Given the description of an element on the screen output the (x, y) to click on. 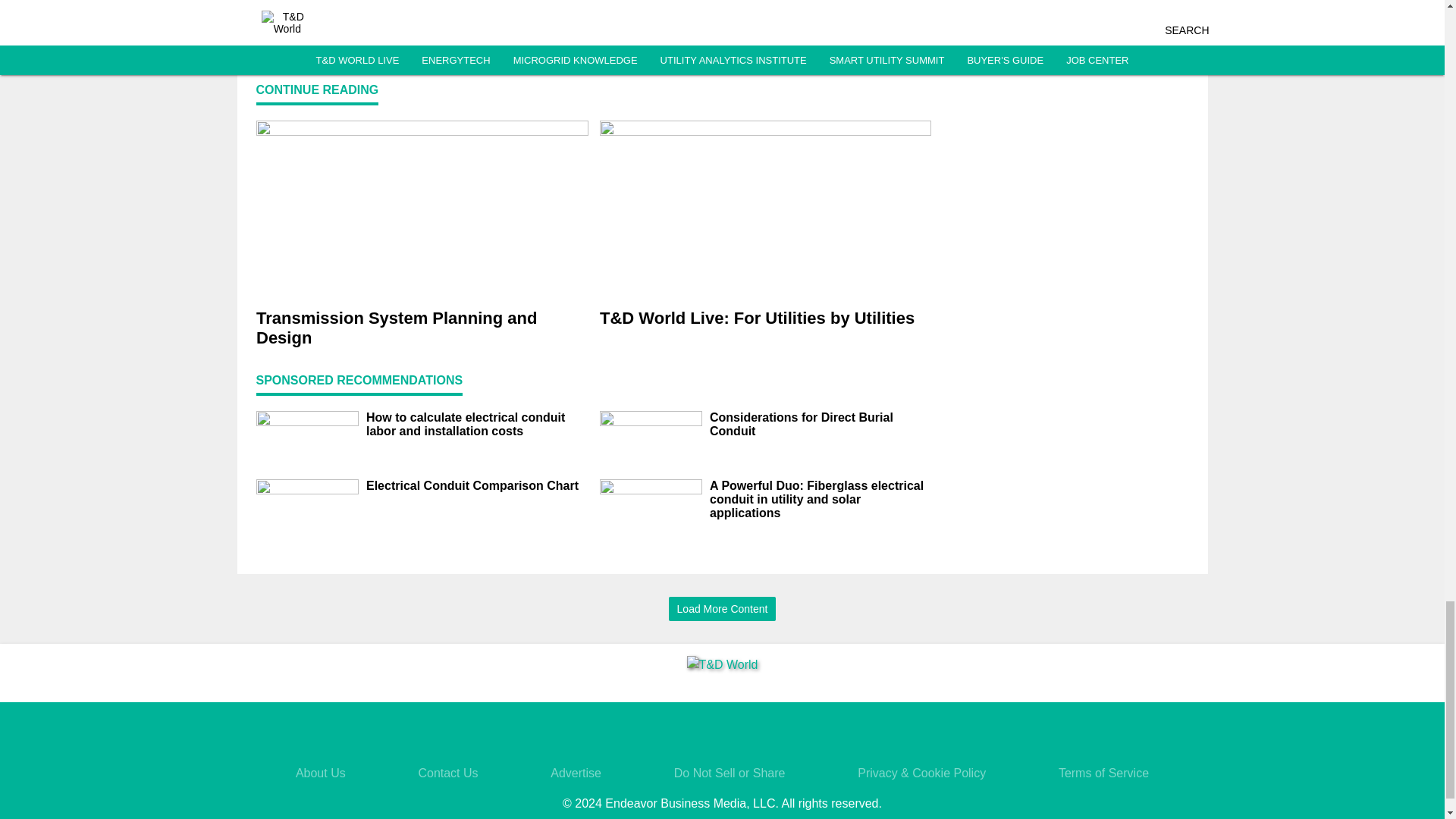
Electrical Conduit Comparison Chart (476, 486)
I already have an account (593, 19)
Join today! (593, 1)
Transmission System Planning and Design (422, 328)
Considerations for Direct Burial Conduit (820, 424)
